Given the description of an element on the screen output the (x, y) to click on. 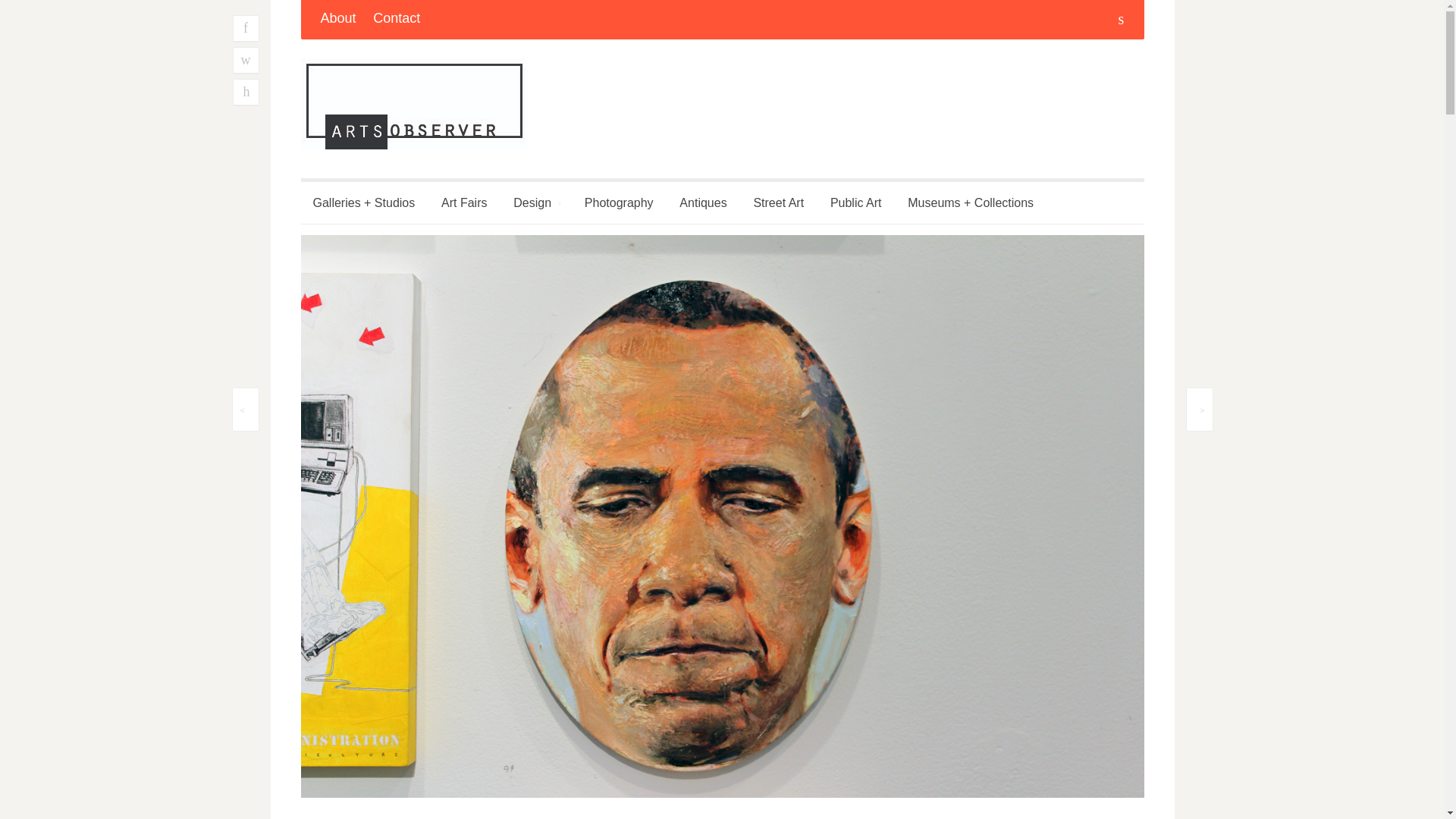
Design (535, 202)
w (245, 60)
About (337, 19)
Street Art (778, 202)
Photography (618, 202)
Art Fairs (464, 202)
Arts Observer (413, 103)
Antiques (702, 202)
Public Art (855, 202)
f (245, 28)
Contact (396, 19)
